Given the description of an element on the screen output the (x, y) to click on. 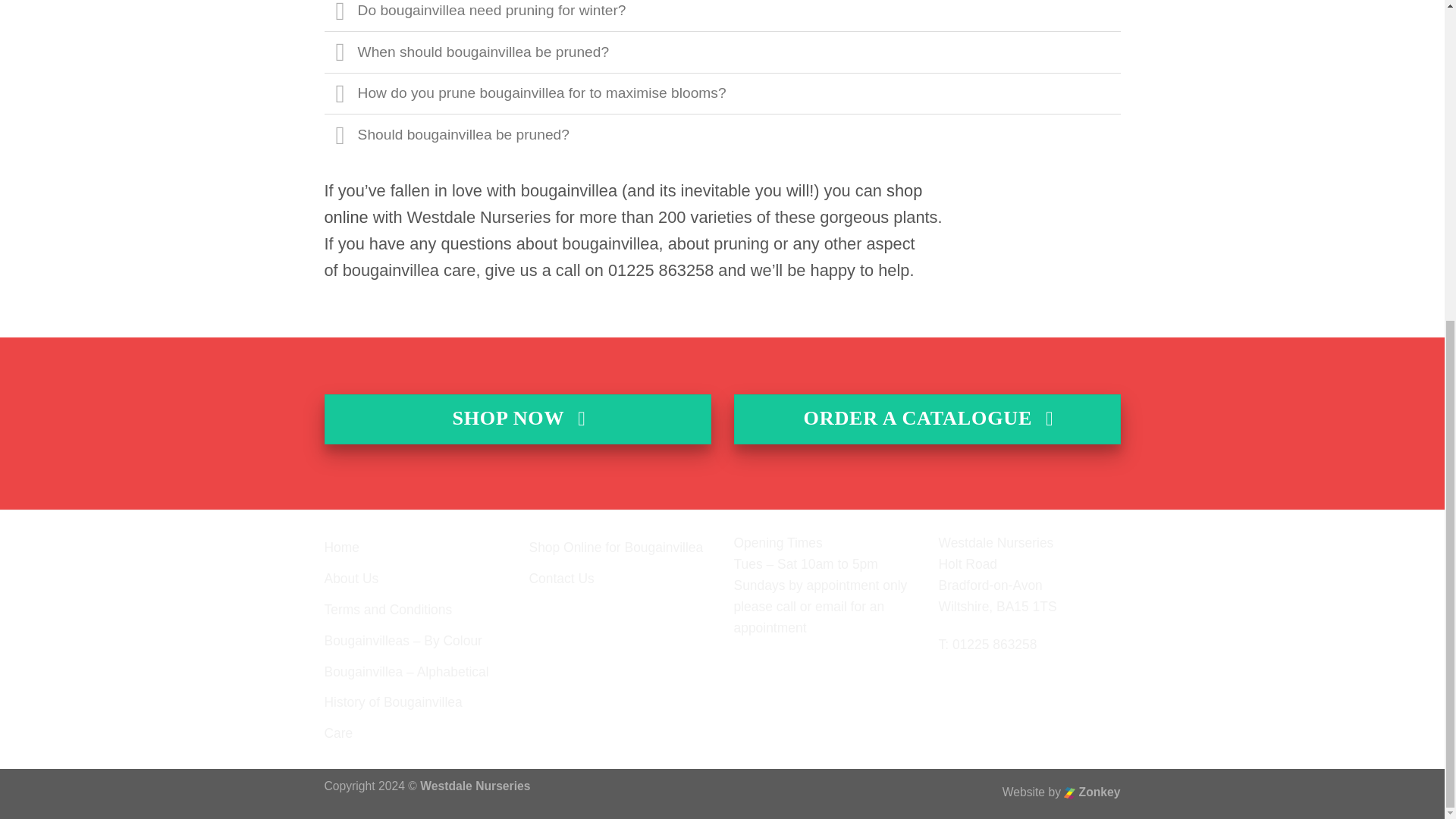
When should bougainvillea be pruned? (722, 51)
How do you prune bougainvillea for to maximise blooms? (722, 93)
Do bougainvillea need pruning for winter? (722, 15)
Should bougainvillea be pruned? (722, 134)
